Given the description of an element on the screen output the (x, y) to click on. 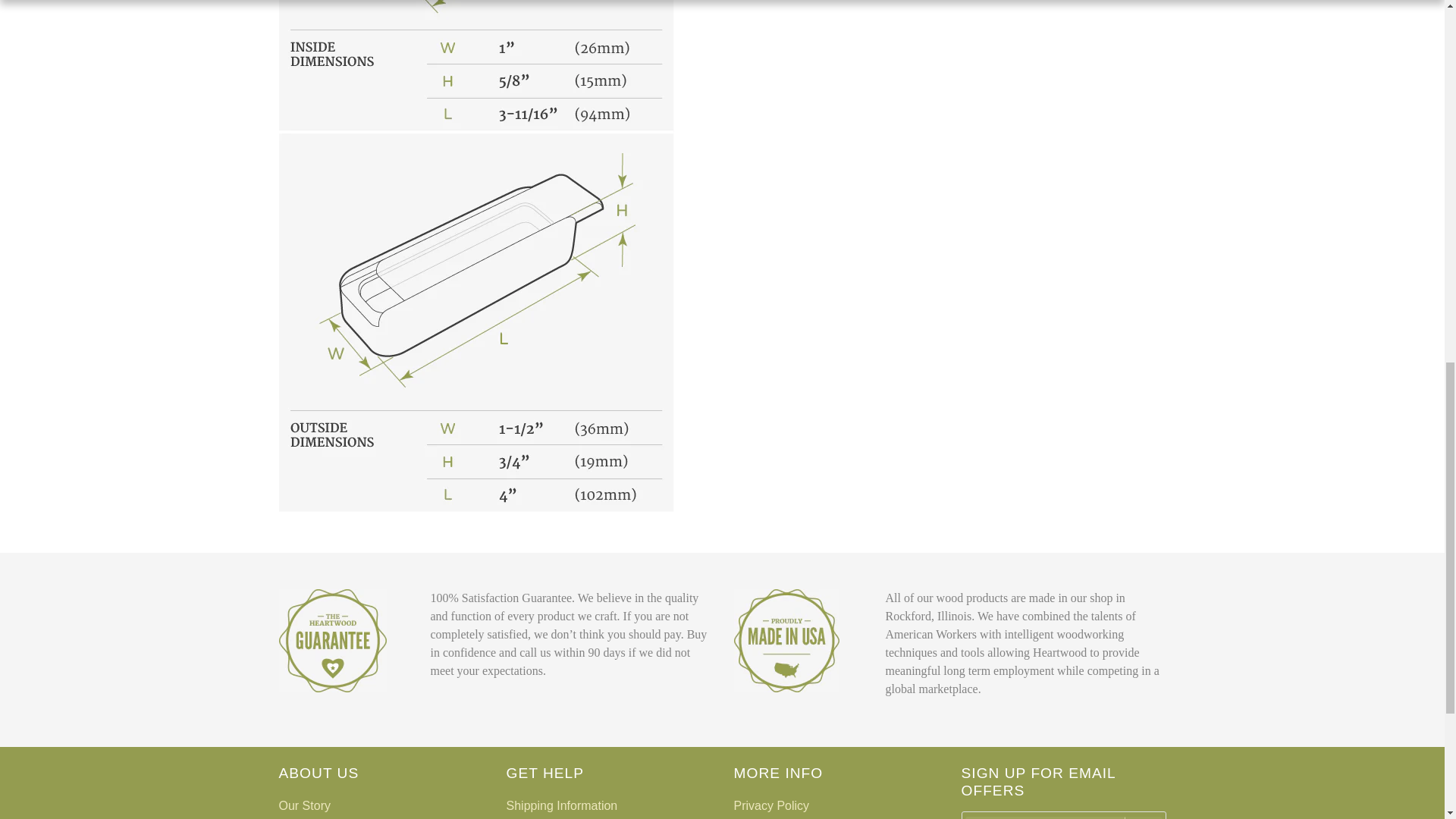
Sign up for our newsletter (1043, 817)
